Given the description of an element on the screen output the (x, y) to click on. 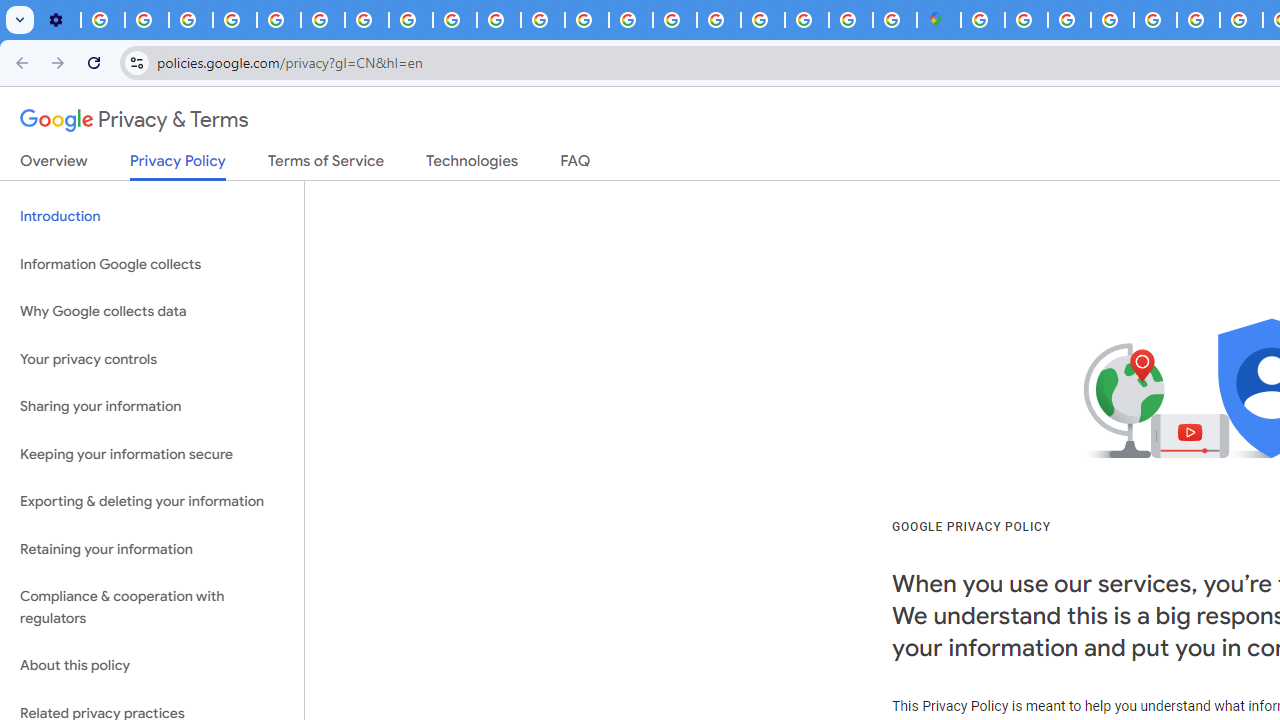
https://scholar.google.com/ (542, 20)
